Given the description of an element on the screen output the (x, y) to click on. 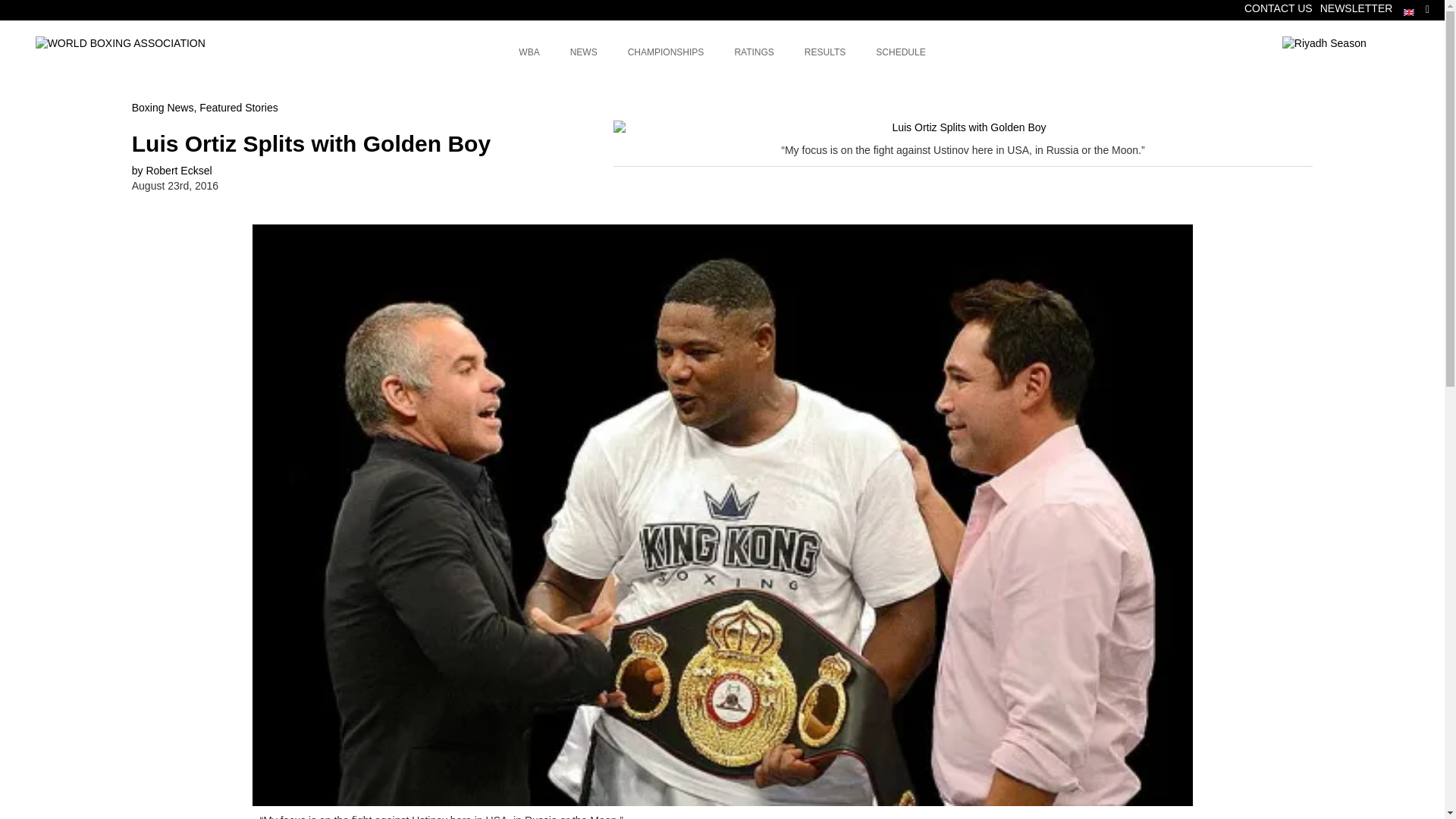
NEWS (583, 53)
CHAMPIONSHIPS (665, 53)
WBA (528, 53)
RATINGS (721, 53)
CONTACT US (754, 53)
NEWSLETTER (1278, 7)
